Given the description of an element on the screen output the (x, y) to click on. 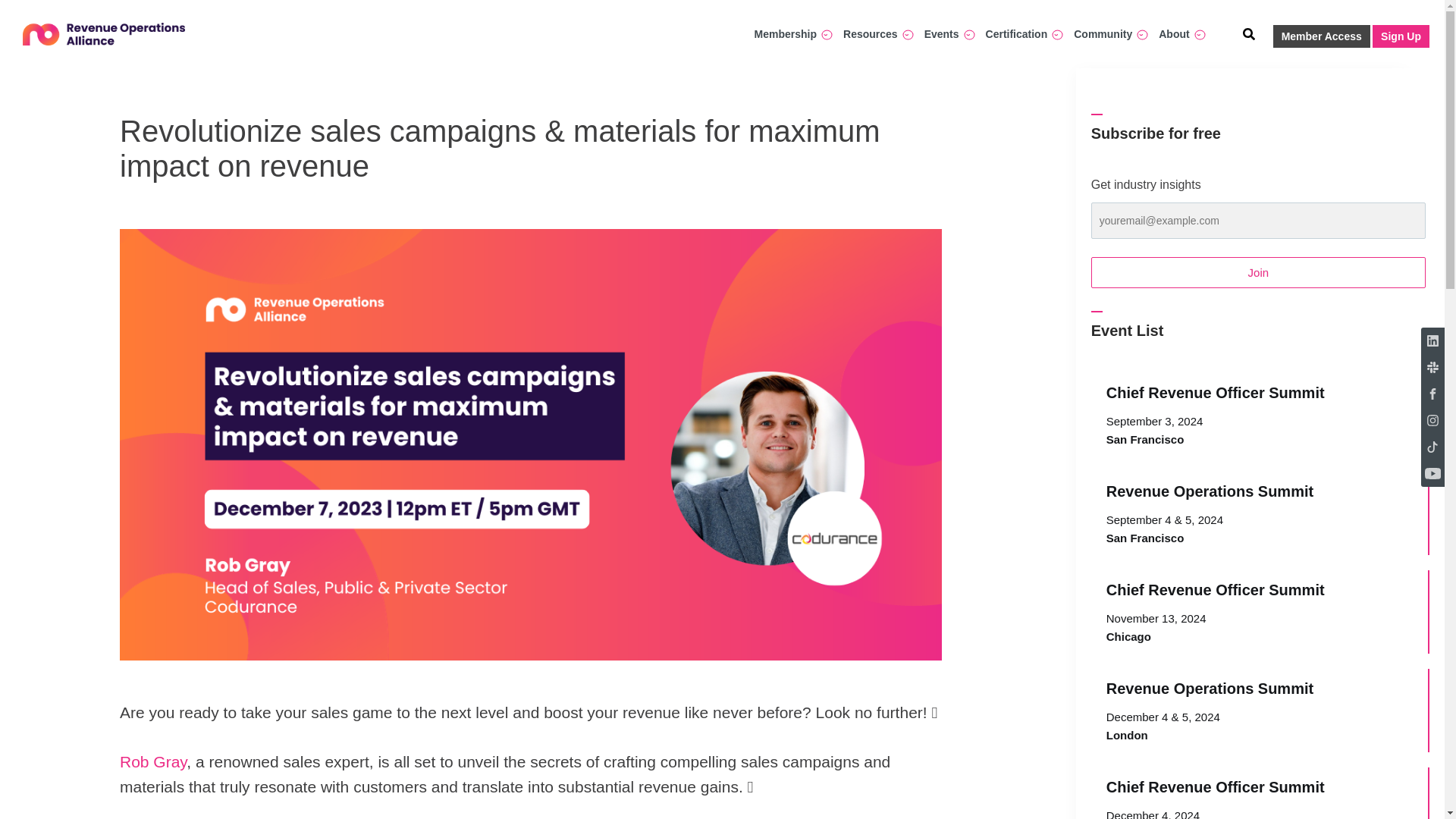
Sign Up (1401, 36)
Member Access (1321, 36)
